Given the description of an element on the screen output the (x, y) to click on. 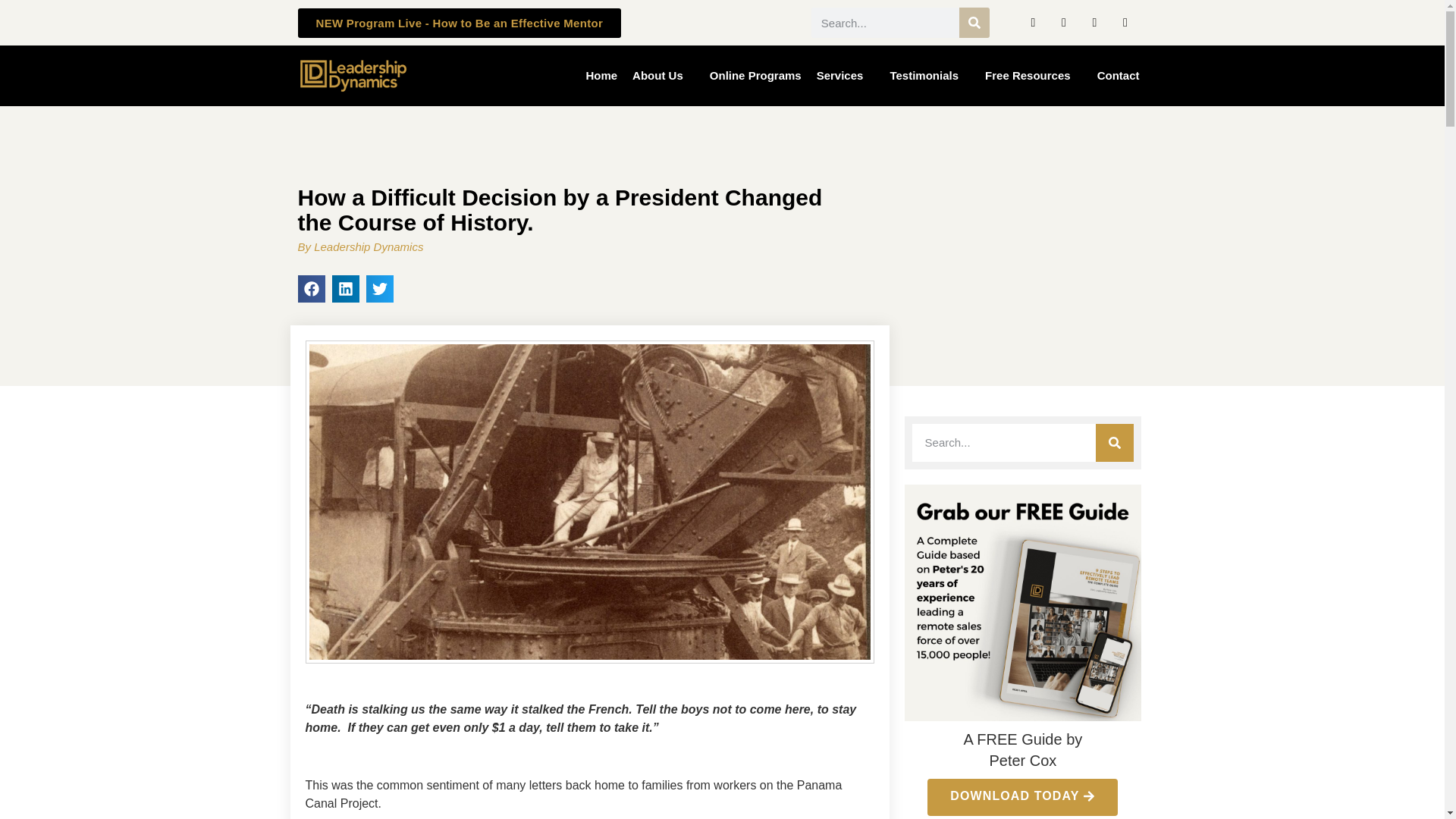
About Us (662, 75)
Home (601, 75)
NEW Program Live - How to Be an Effective Mentor (459, 21)
Online Programs (755, 75)
Contact (1118, 75)
Services (845, 75)
Free Resources (1032, 75)
Testimonials (929, 75)
By Leadership Dynamics (360, 247)
DOWNLOAD TODAY (1022, 796)
